Given the description of an element on the screen output the (x, y) to click on. 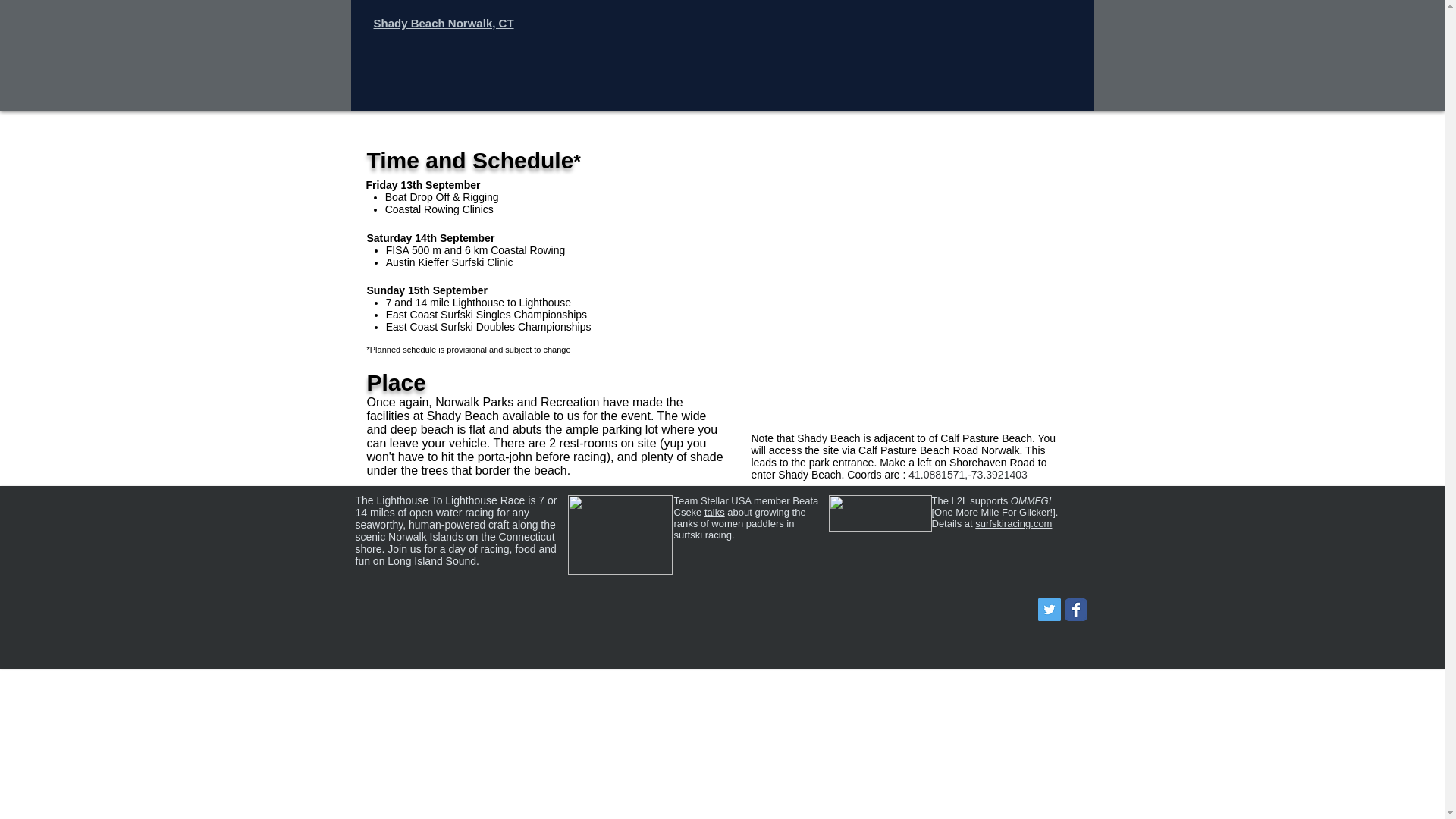
surfskiracing.com (1013, 523)
Google Maps (914, 287)
Shady Beach Norwalk, CT (442, 22)
talks (714, 511)
